Given the description of an element on the screen output the (x, y) to click on. 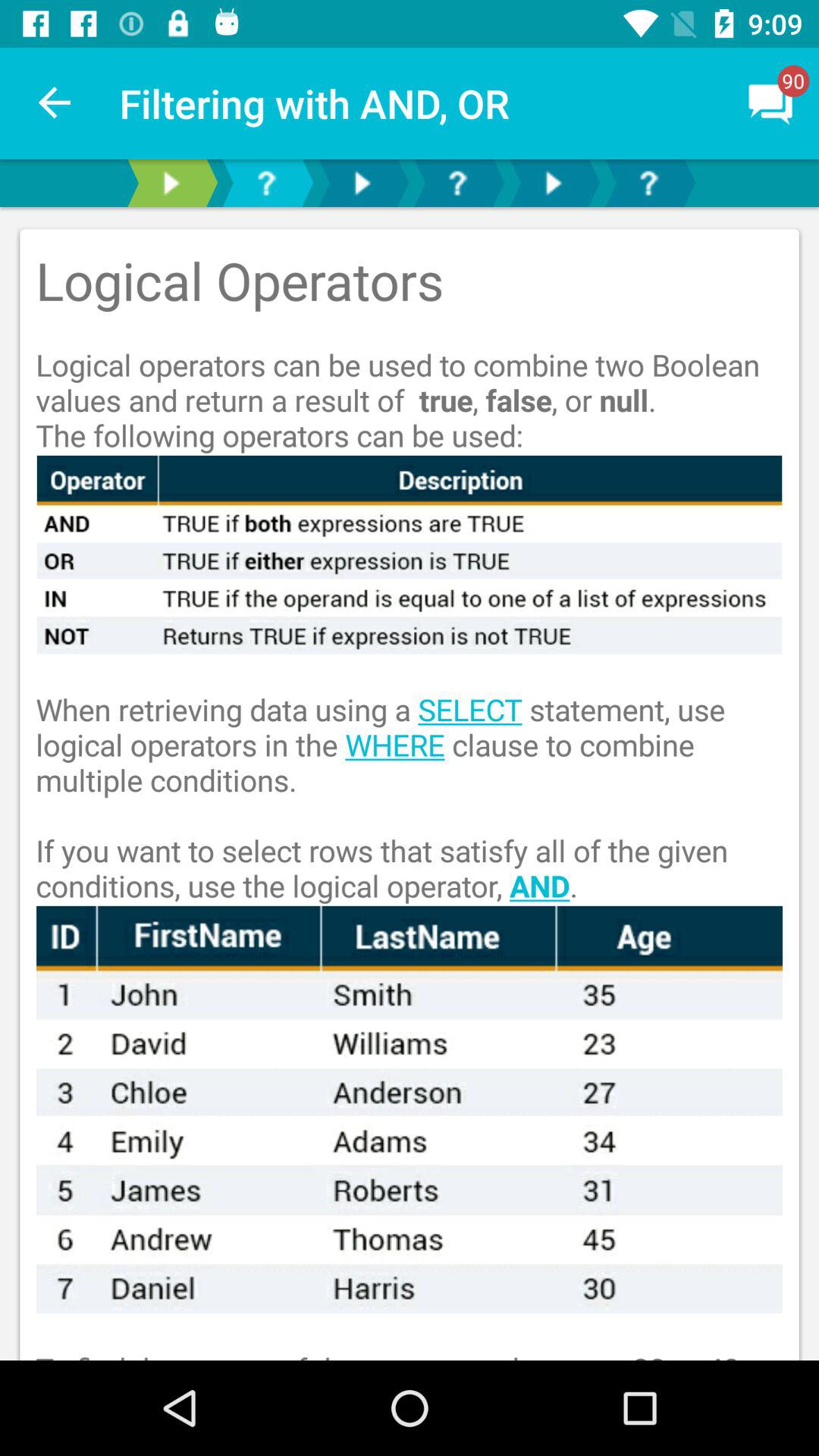
raise the question (457, 183)
